Given the description of an element on the screen output the (x, y) to click on. 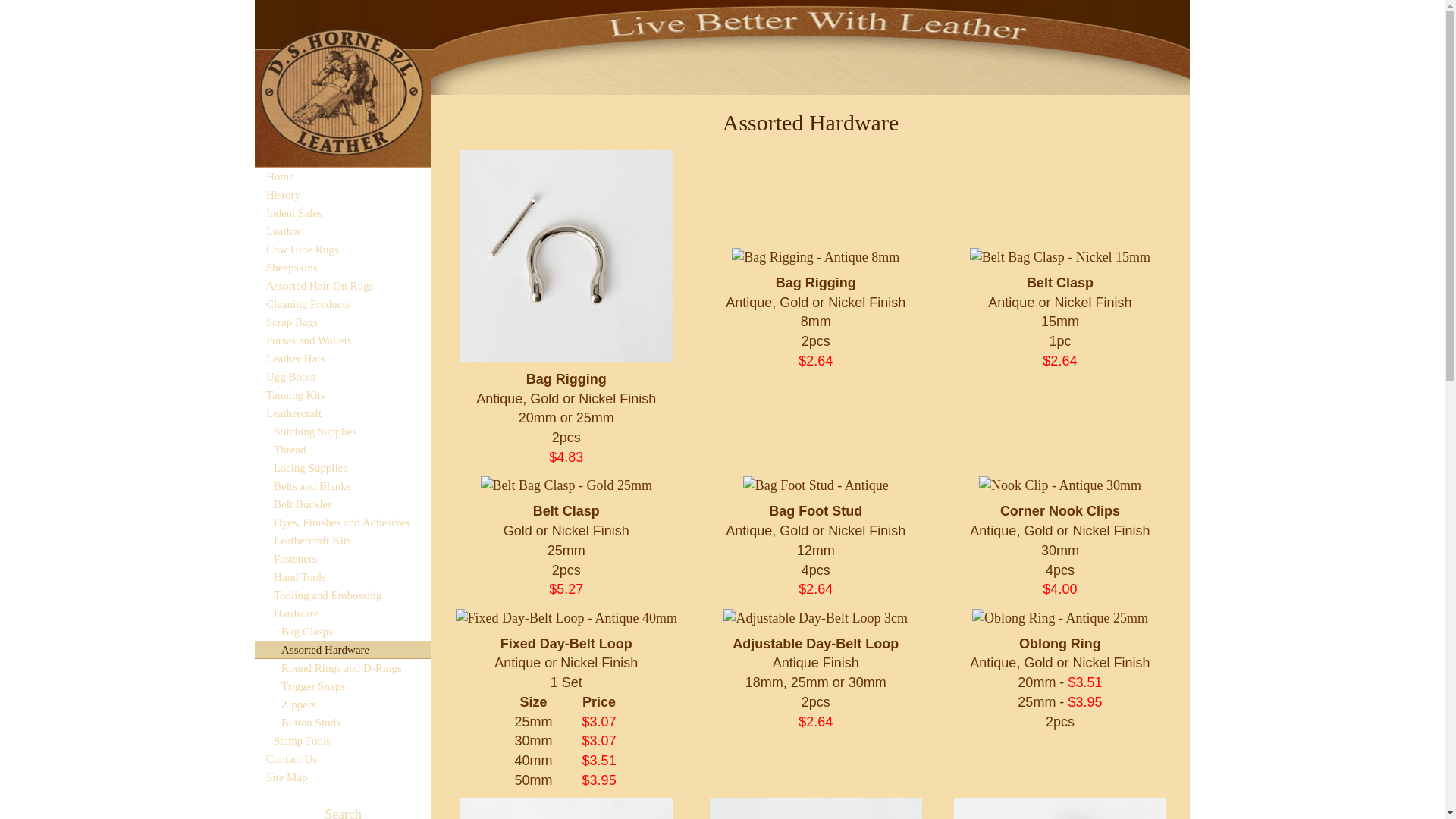
Bag Rigging - Nickel 25mm Element type: hover (566, 256)
Nook Clip - Antique 30mm Element type: hover (1060, 485)
Home Element type: text (342, 176)
Round Rings and D-Rings Element type: text (342, 667)
Belt Buckles Element type: text (342, 504)
Sheepskins Element type: text (342, 267)
Leathercraft Kits Element type: text (342, 540)
Cow Hide Rugs Element type: text (342, 249)
Zippers Element type: text (342, 704)
Bag Clasps Element type: text (342, 631)
Oblong Ring - Antique 25mm Element type: hover (1060, 617)
Leather Hats Element type: text (342, 358)
Leathercraft Element type: text (342, 413)
Stitching Supplies Element type: text (342, 431)
Tanning Kits Element type: text (342, 394)
Belts and Blanks Element type: text (342, 485)
Purses and Wallets Element type: text (342, 340)
Tooling and Embossing Element type: text (342, 595)
Thread Element type: text (342, 449)
Indent Sales Element type: text (342, 212)
Scrap Bags Element type: text (342, 322)
Hardware Element type: text (342, 613)
Site Map Element type: text (342, 777)
Contact Us Element type: text (342, 758)
Adjustable Day-Belt Loop 3cm Element type: hover (814, 617)
Trigger Snaps Element type: text (342, 686)
Assorted Hardware Element type: text (342, 649)
Assorted Hair-On Rugs Element type: text (342, 285)
Hand Tools Element type: text (342, 576)
Cleaning Products Element type: text (342, 303)
Fasteners Element type: text (342, 558)
Belt Bag Clasp - Nickel 15mm Element type: hover (1059, 256)
Bag Foot Stud - Antique Element type: hover (815, 485)
Lacing Supplies Element type: text (342, 467)
Dyes, Finishes and Adhesives Element type: text (342, 522)
Belt Bag Clasp - Gold 25mm Element type: hover (566, 485)
Stamp Tools Element type: text (342, 740)
History Element type: text (342, 194)
Ugg Boots Element type: text (342, 376)
Leather Element type: text (342, 231)
Banner - Live Better With Leather Element type: hover (810, 47)
Fixed Day-Belt Loop - Antique 40mm Element type: hover (566, 617)
Bag Rigging - Antique 8mm Element type: hover (815, 256)
Button Studs Element type: text (342, 722)
